Given the description of an element on the screen output the (x, y) to click on. 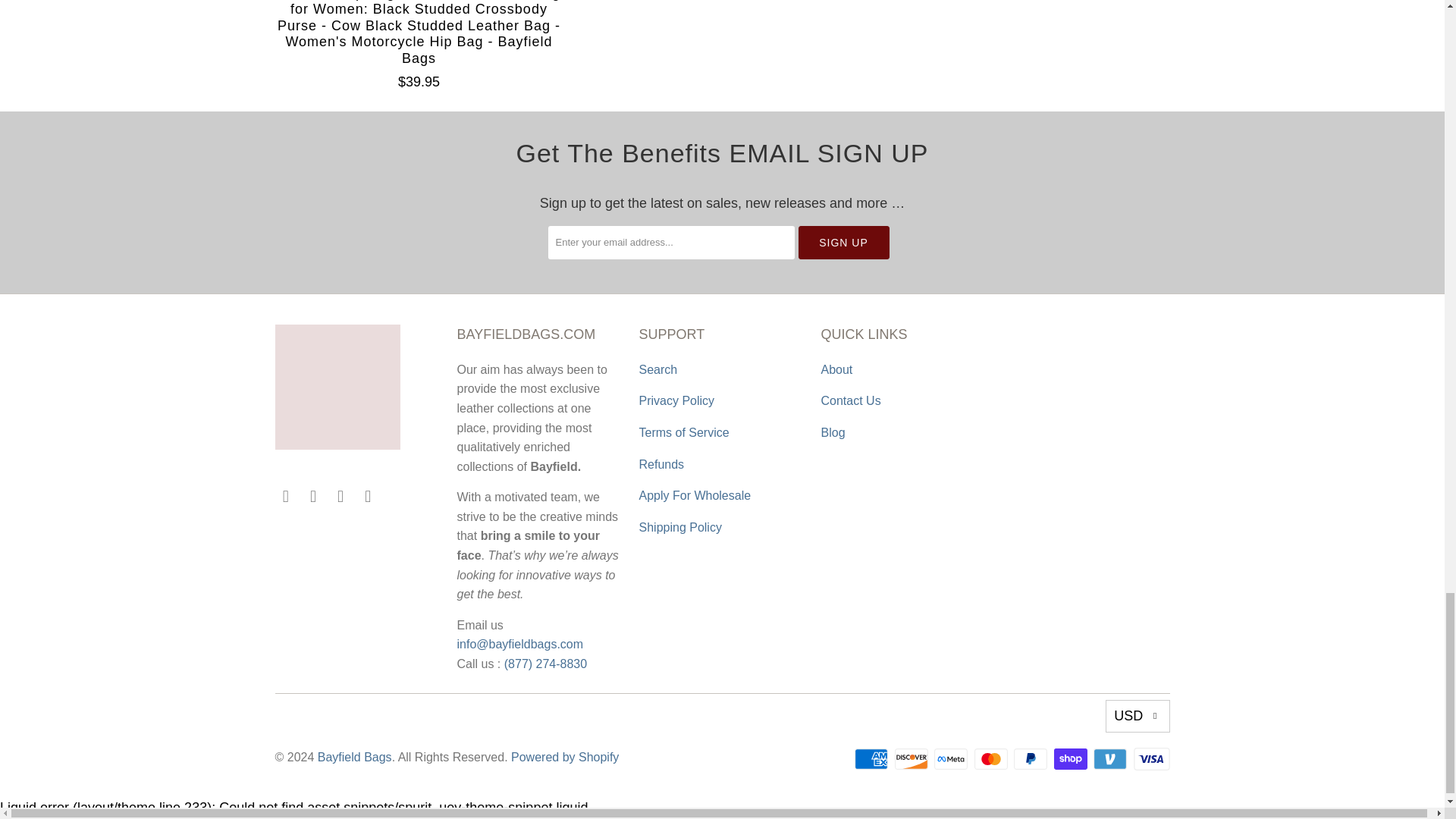
Discover (913, 758)
Venmo (1111, 758)
Bayfield Bags  on Facebook (286, 496)
Sign Up (842, 242)
Mastercard (992, 758)
PayPal (1031, 758)
Visa (1150, 758)
American Express (872, 758)
Meta Pay (952, 758)
Shop Pay (1072, 758)
